Given the description of an element on the screen output the (x, y) to click on. 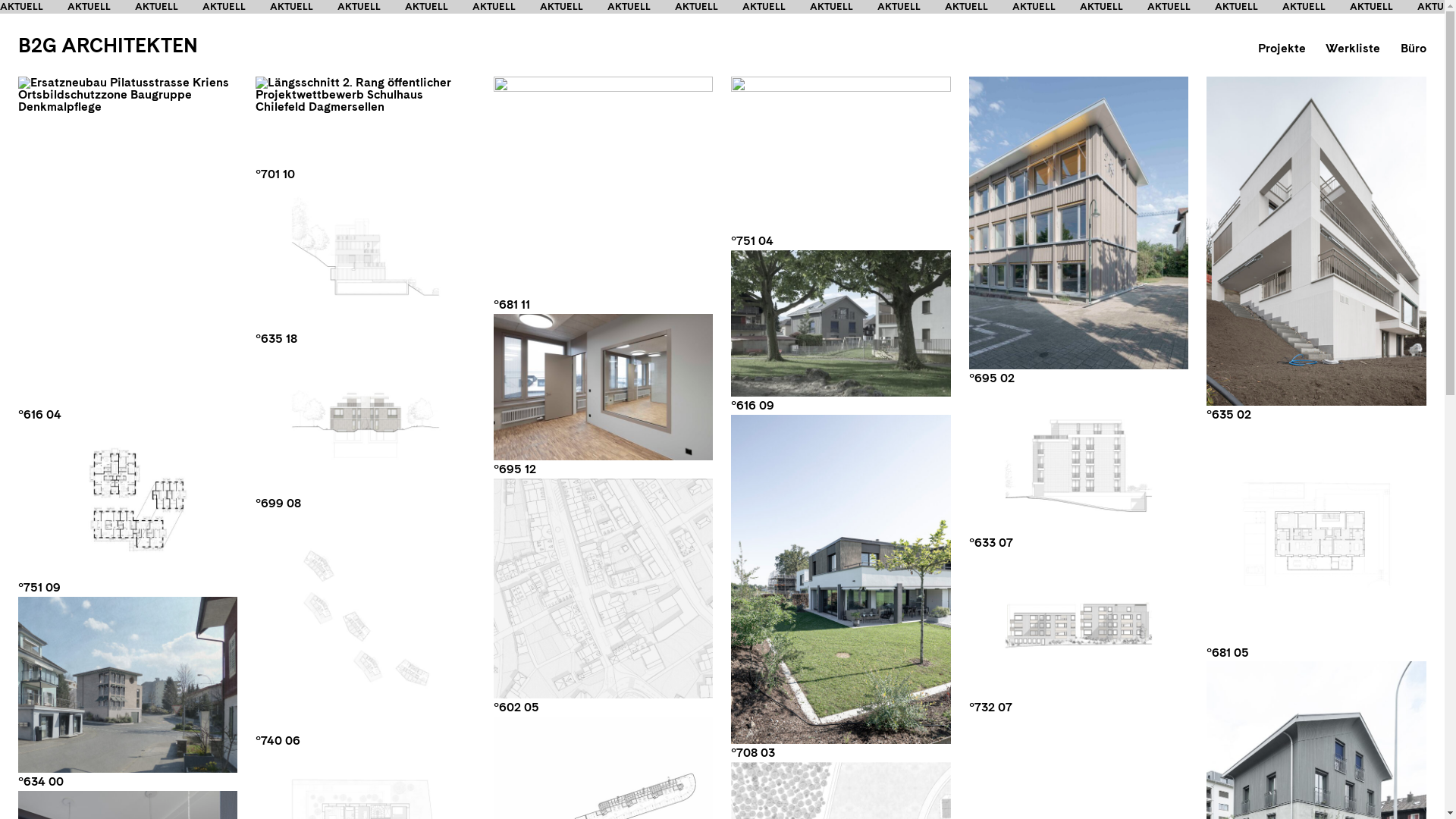
Projekte Element type: text (1281, 47)
B2G ARCHITEKTEN Element type: text (107, 44)
Werkliste Element type: text (1352, 47)
